Given the description of an element on the screen output the (x, y) to click on. 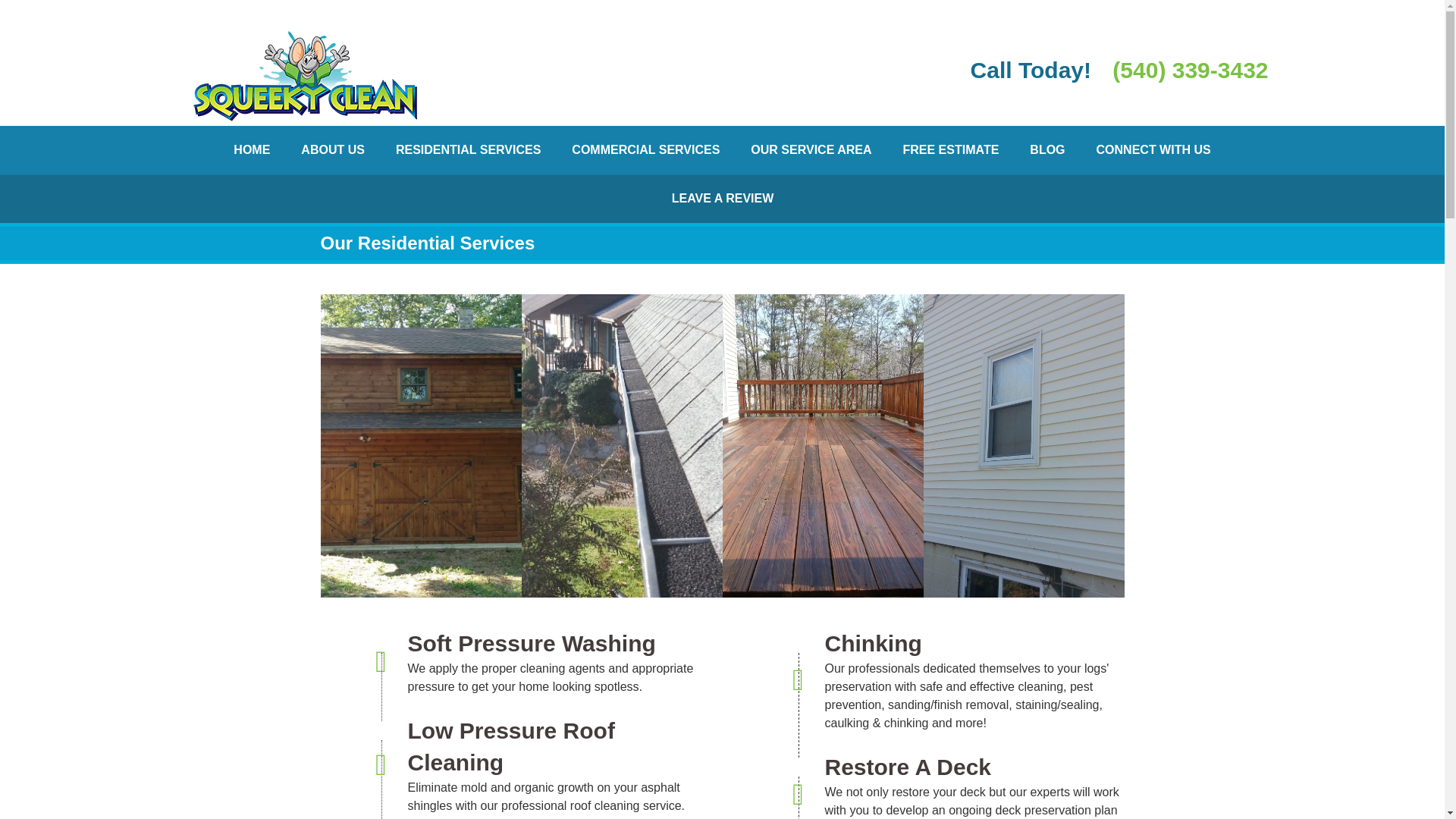
COMMERCIAL SERVICES (645, 150)
HOME (251, 150)
RESIDENTIAL SERVICES (468, 150)
CONNECT WITH US (1153, 150)
Squeeky Clean Pressure Washing (304, 76)
ABOUT US (332, 150)
FREE ESTIMATE (949, 150)
OUR SERVICE AREA (810, 150)
BLOG (1047, 150)
LEAVE A REVIEW (722, 198)
